Given the description of an element on the screen output the (x, y) to click on. 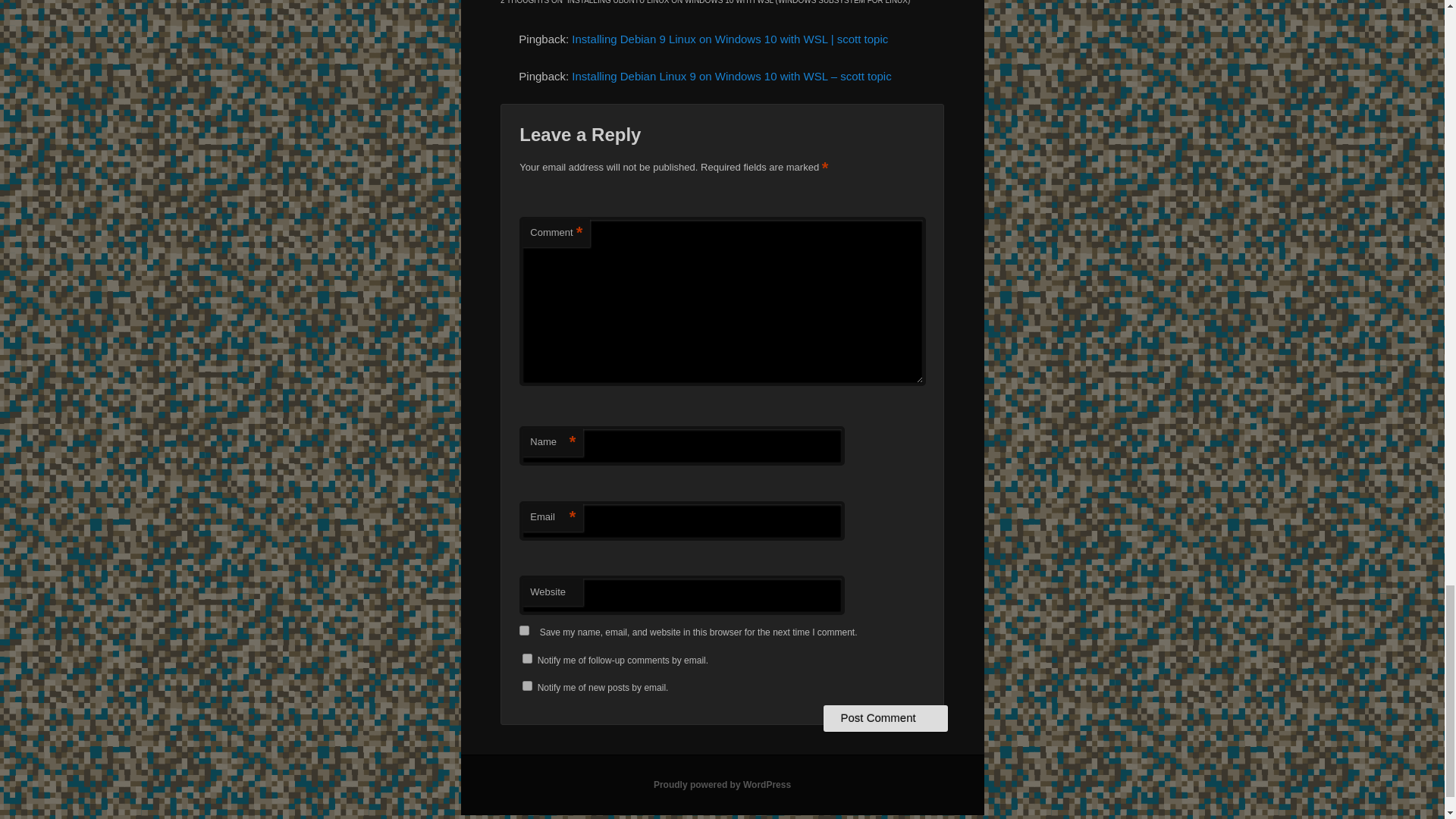
subscribe (527, 658)
Post Comment (885, 718)
Proudly powered by WordPress (721, 784)
Semantic Personal Publishing Platform (721, 784)
yes (524, 630)
subscribe (527, 685)
Post Comment (885, 718)
